Given the description of an element on the screen output the (x, y) to click on. 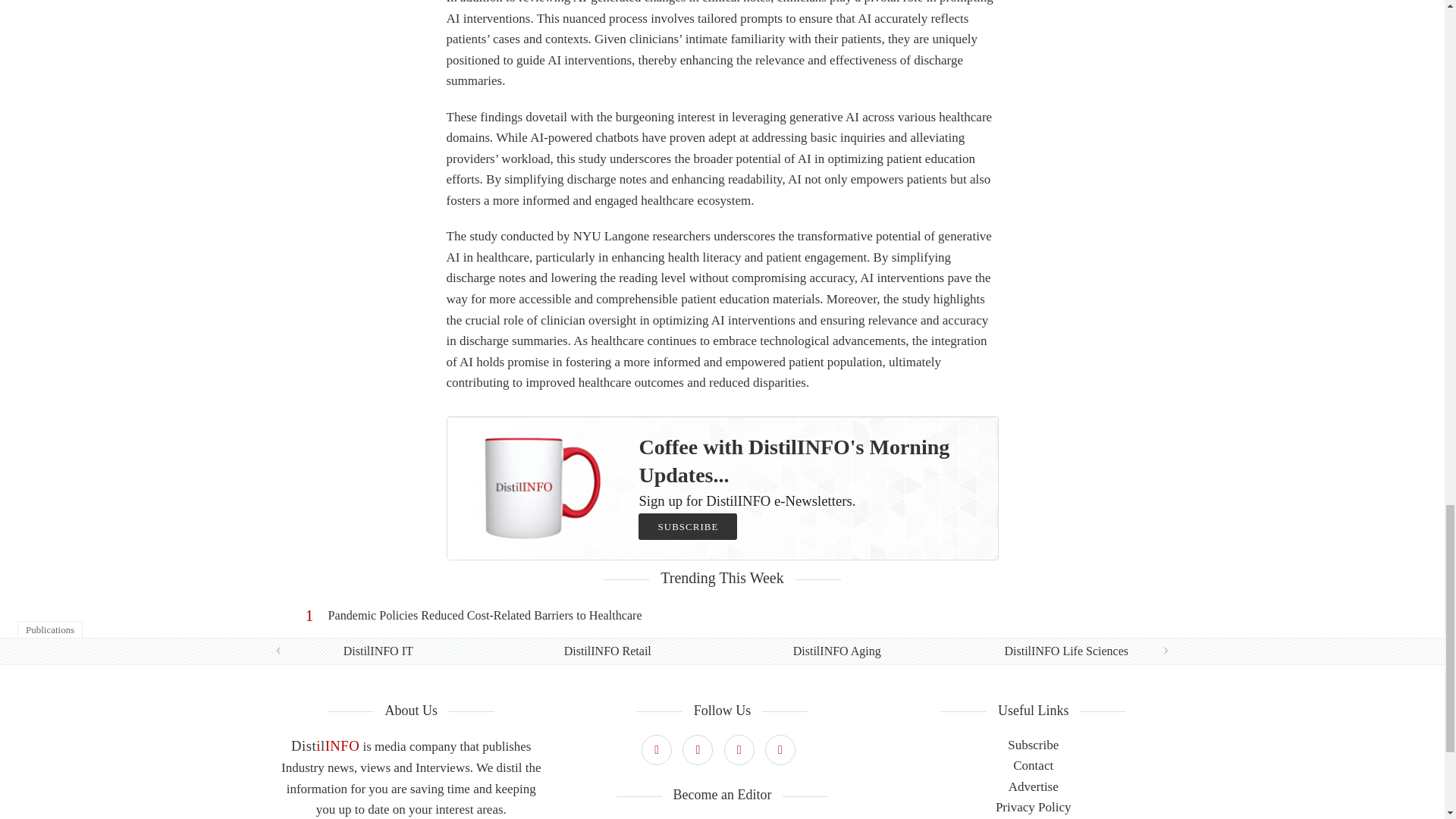
DistilINFO IT (378, 650)
SUBSCRIBE (687, 526)
